Given the description of an element on the screen output the (x, y) to click on. 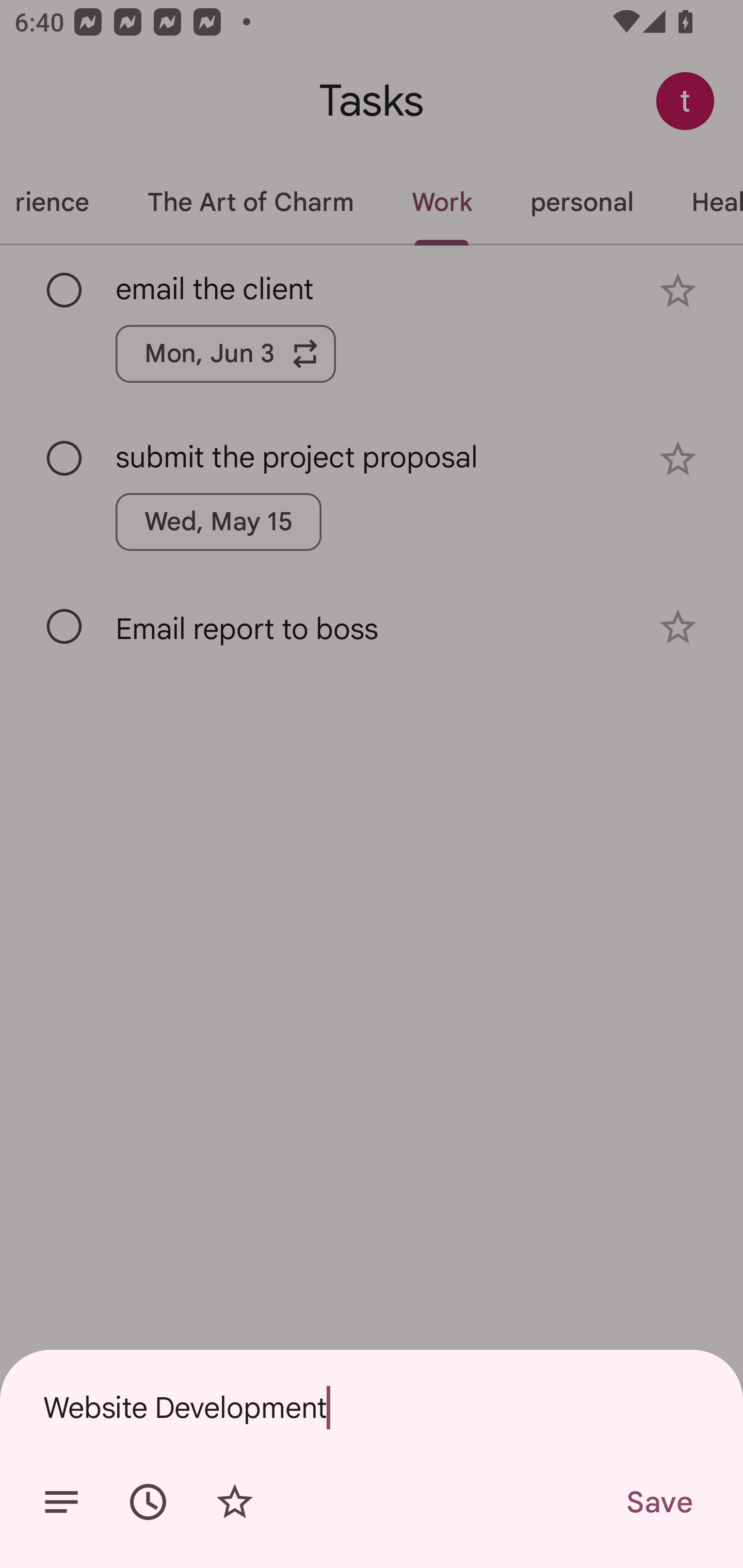
Website Development (371, 1407)
Save (659, 1501)
Add details (60, 1501)
Set date/time (147, 1501)
Add star (234, 1501)
